Given the description of an element on the screen output the (x, y) to click on. 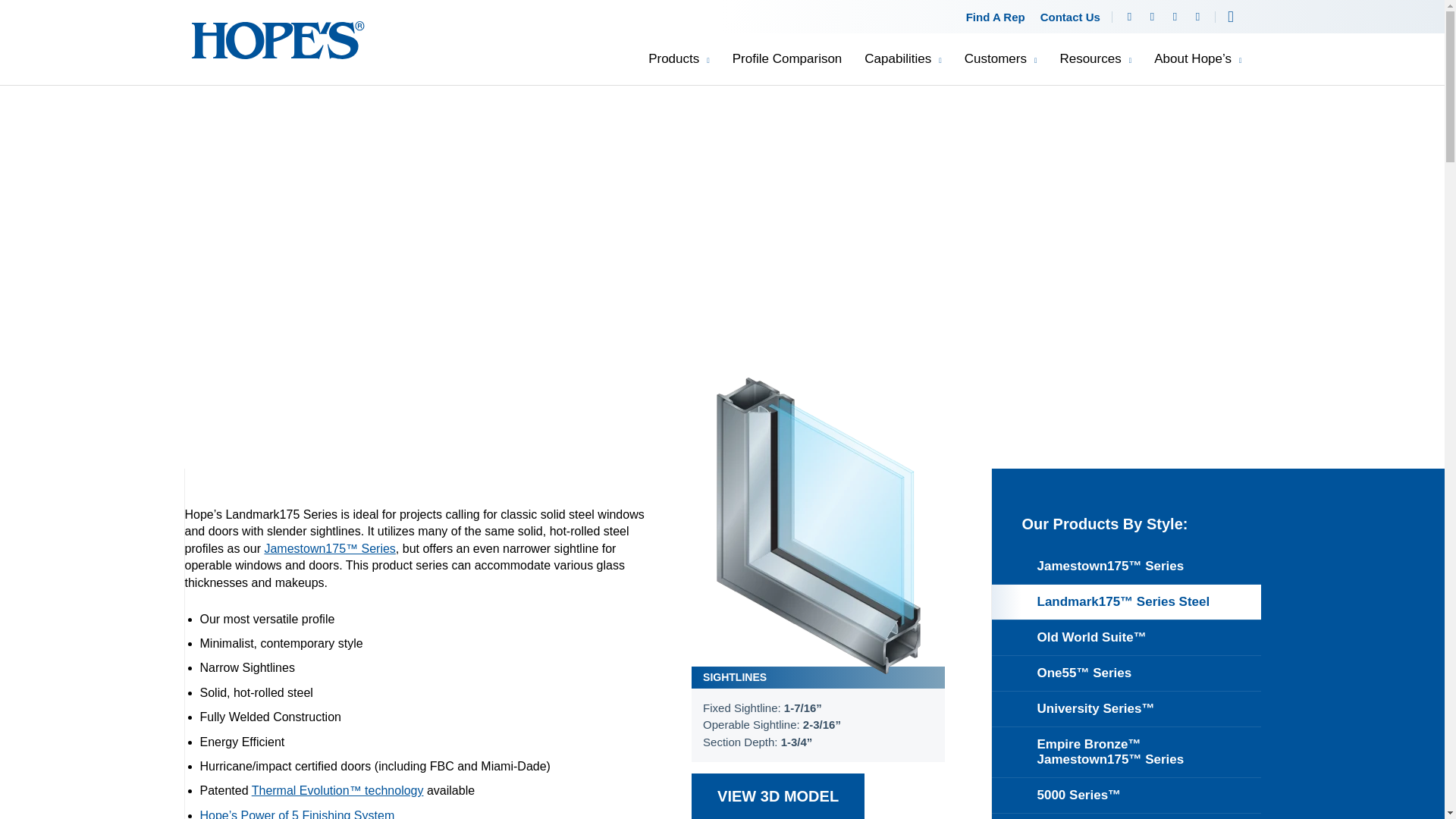
Products (678, 59)
Facebook-f (1129, 16)
Contact Us (1070, 16)
Houzz (1198, 16)
Linkedin-in (1152, 16)
Resources (1095, 59)
Customers (999, 59)
Profile Comparison (787, 59)
Capabilities (902, 59)
Instagram (1174, 16)
